Given the description of an element on the screen output the (x, y) to click on. 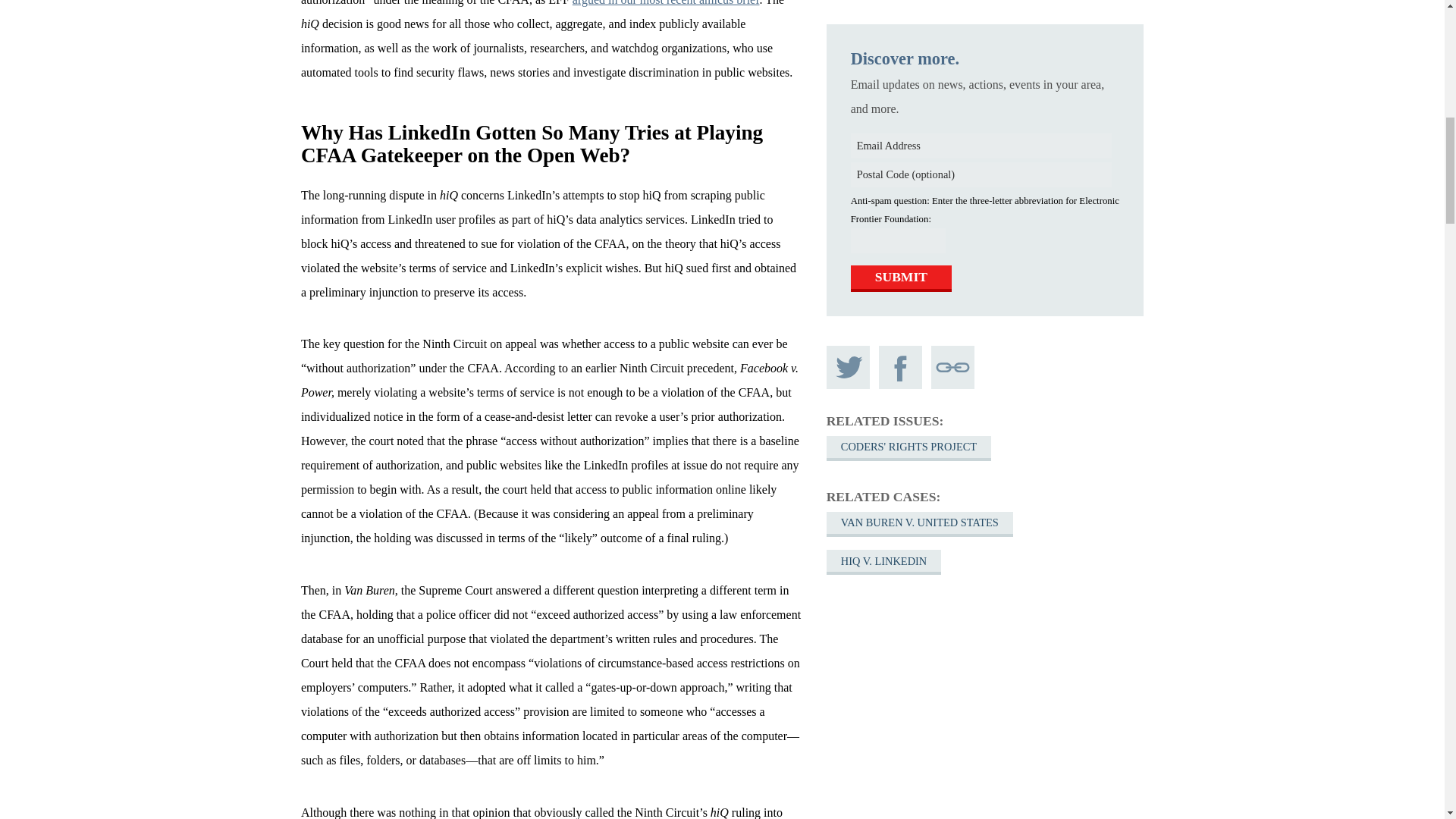
Submit (901, 54)
